Given the description of an element on the screen output the (x, y) to click on. 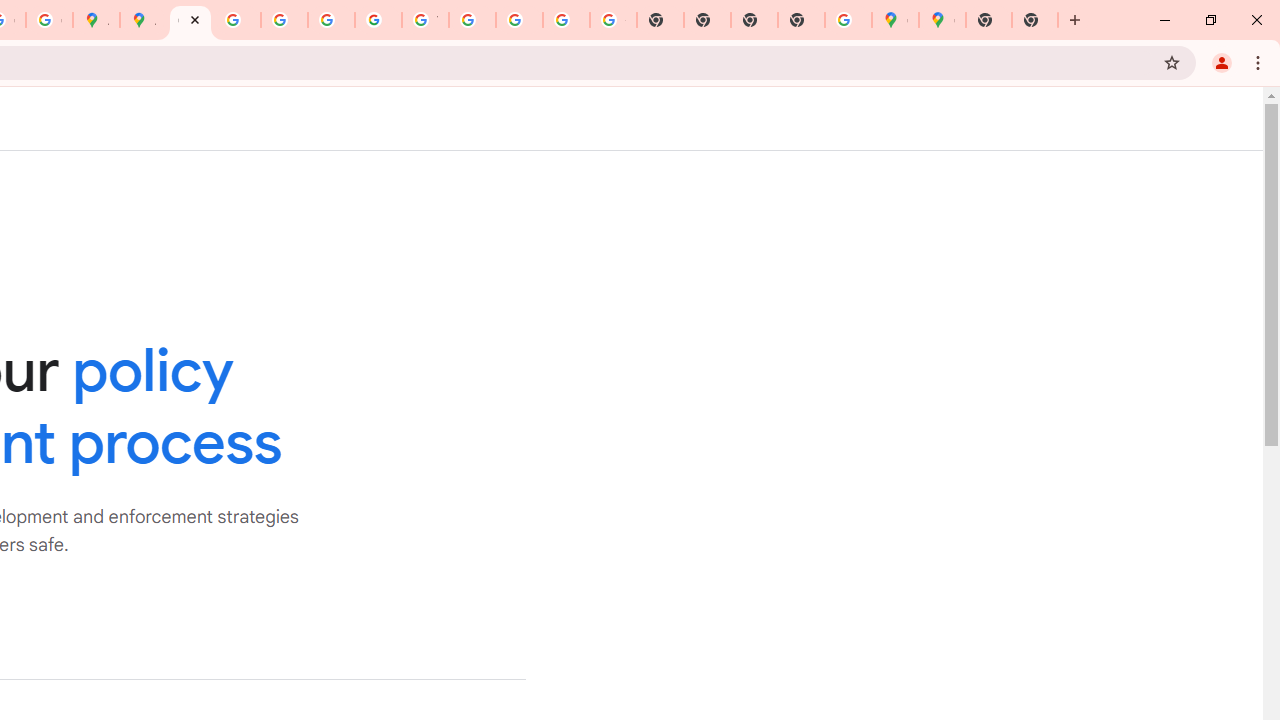
Use Google Maps in Space - Google Maps Help (848, 20)
Privacy Help Center - Policies Help (237, 20)
Browse Chrome as a guest - Computer - Google Chrome Help (472, 20)
New Tab (1035, 20)
